Given the description of an element on the screen output the (x, y) to click on. 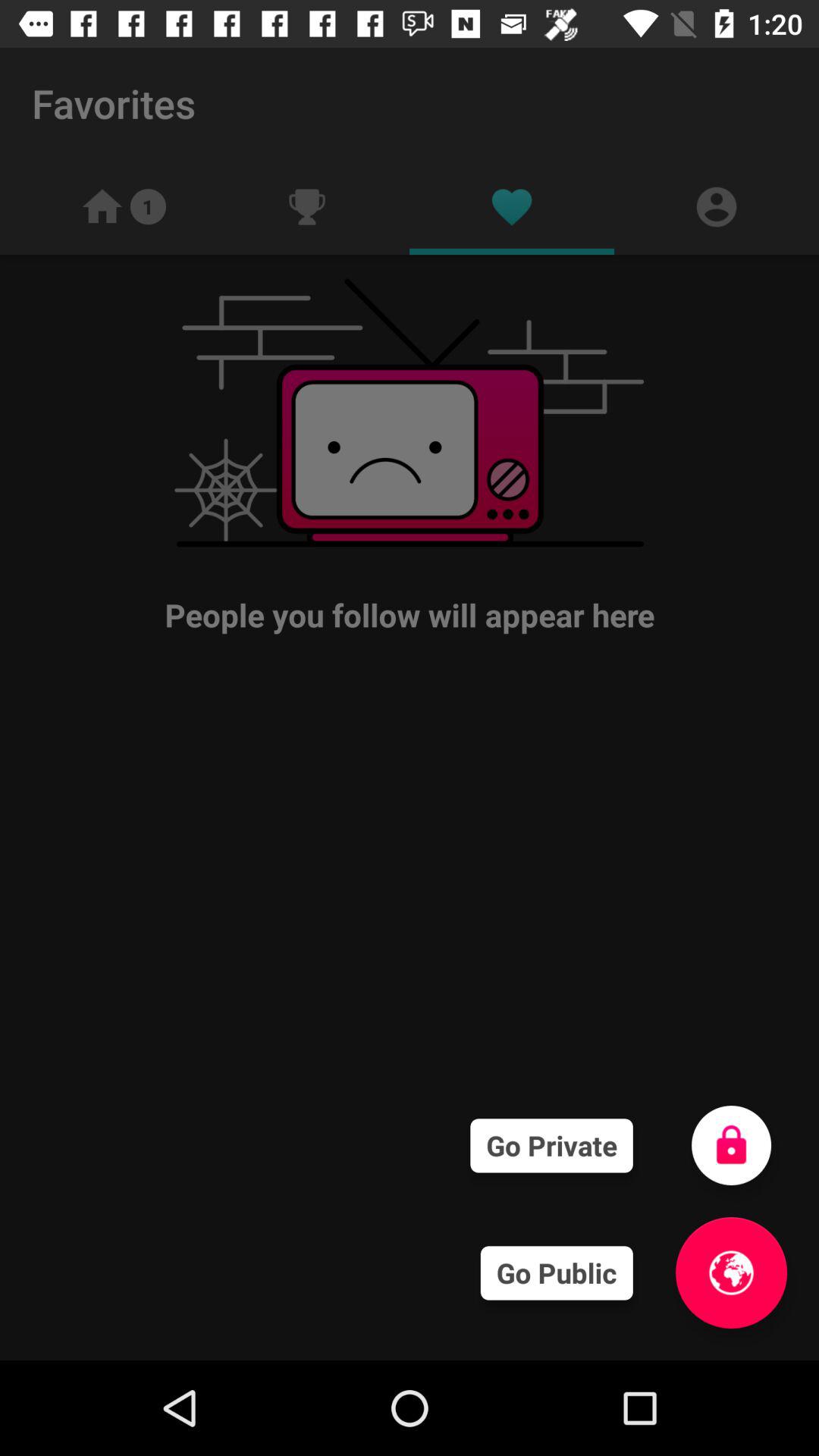
select public (731, 1272)
